Given the description of an element on the screen output the (x, y) to click on. 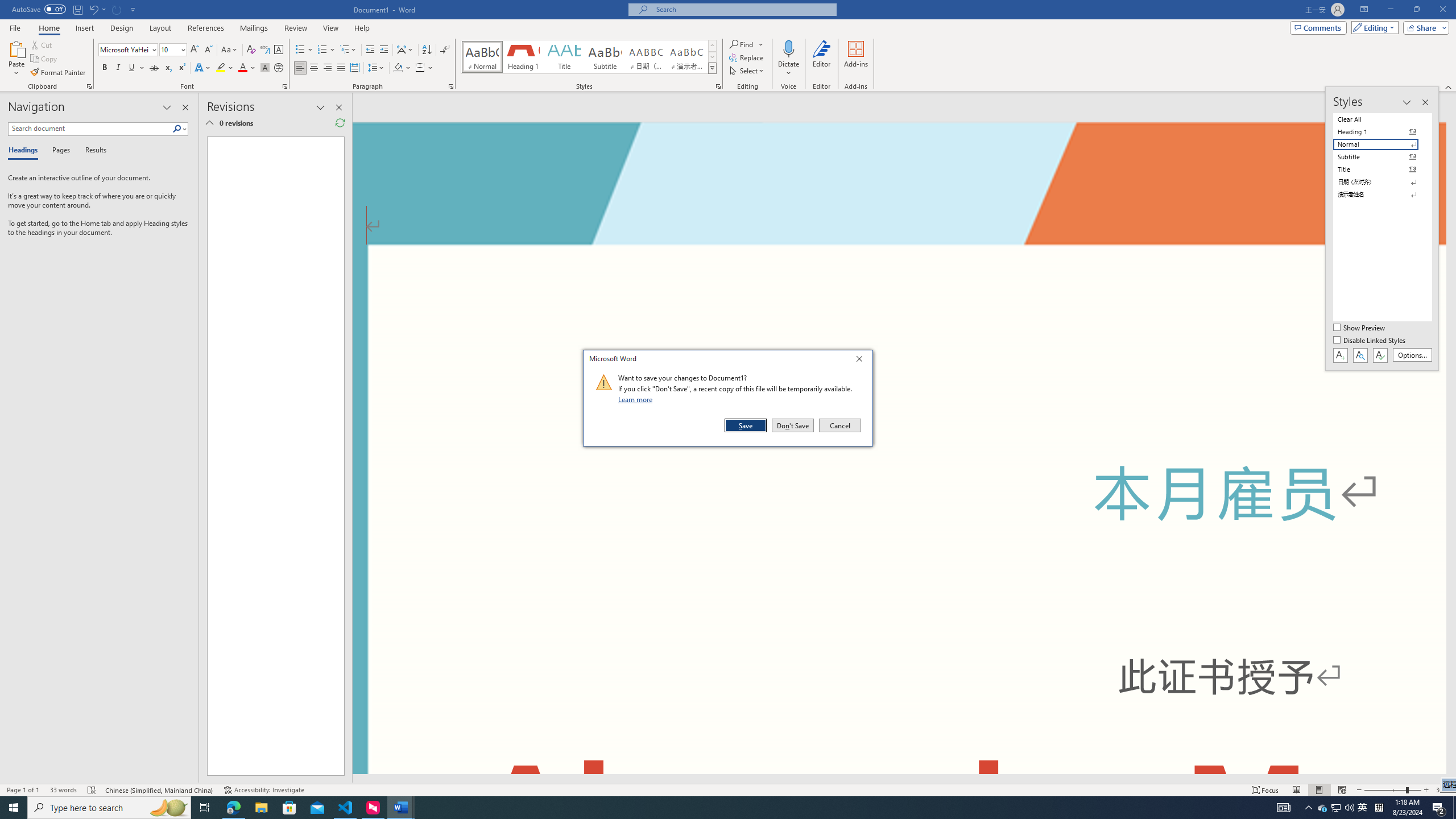
Show Preview (1360, 328)
Dictate (788, 58)
File Explorer (261, 807)
AutomationID: 4105 (1362, 807)
Web Layout (1283, 807)
Page 1 content (1342, 790)
Don't Save (271, 455)
Show Detailed Summary (792, 425)
Header -Section 1- (209, 122)
Microsoft Store (898, 163)
Share (289, 807)
Microsoft search (1423, 27)
